Given the description of an element on the screen output the (x, y) to click on. 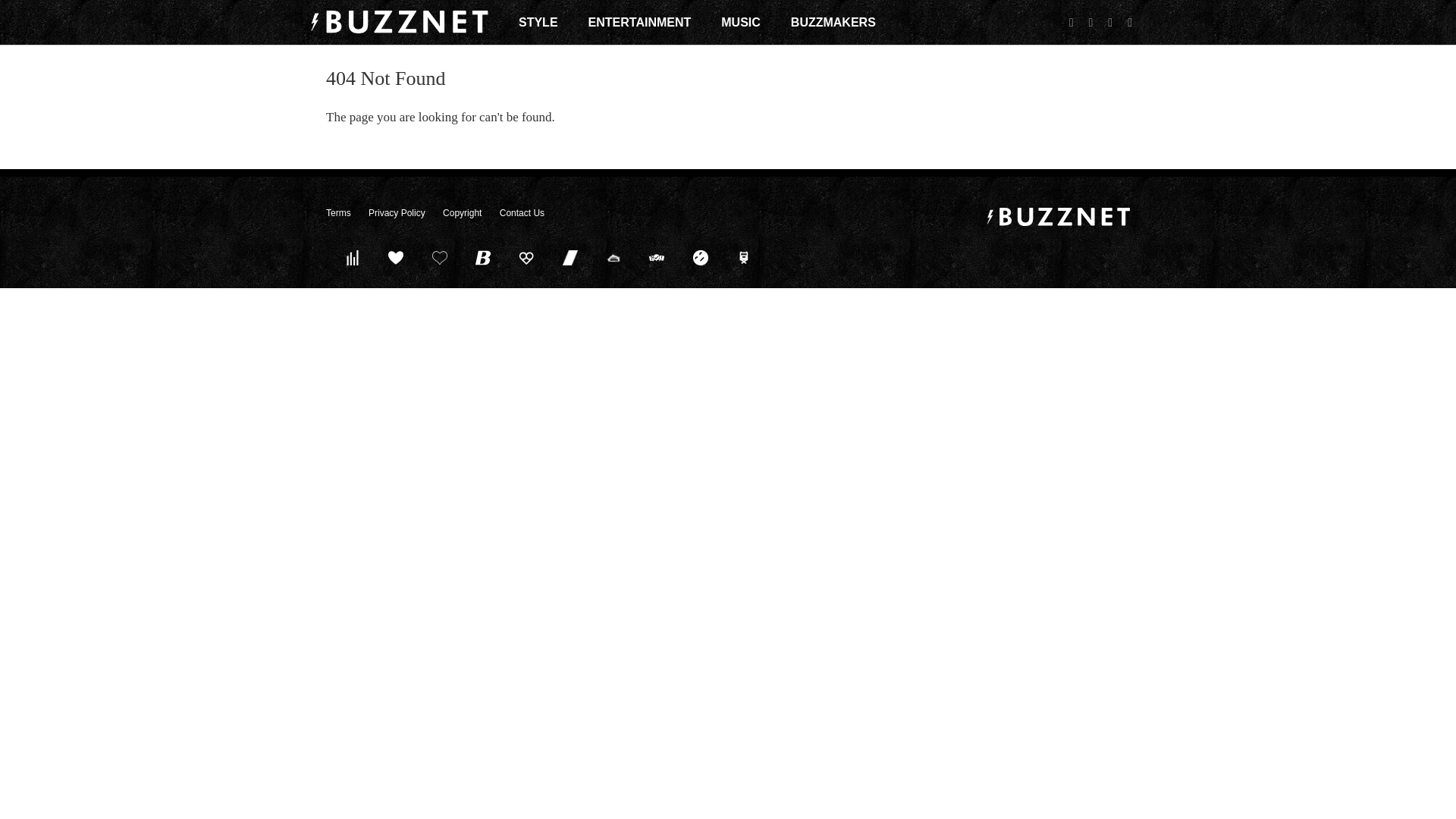
Hooch (526, 257)
BleacherBreaker (483, 257)
Explored Hollywood (743, 257)
Trend Chaser (570, 257)
Post Fun (439, 257)
Copyright (461, 213)
Taco Relish (612, 257)
MUSIC (740, 22)
BUZZMAKERS (833, 22)
Pure Volume (351, 257)
Daily Funny (699, 257)
Terms (338, 213)
Quizscape (656, 257)
Idolator (395, 257)
Privacy Policy (396, 213)
